Given the description of an element on the screen output the (x, y) to click on. 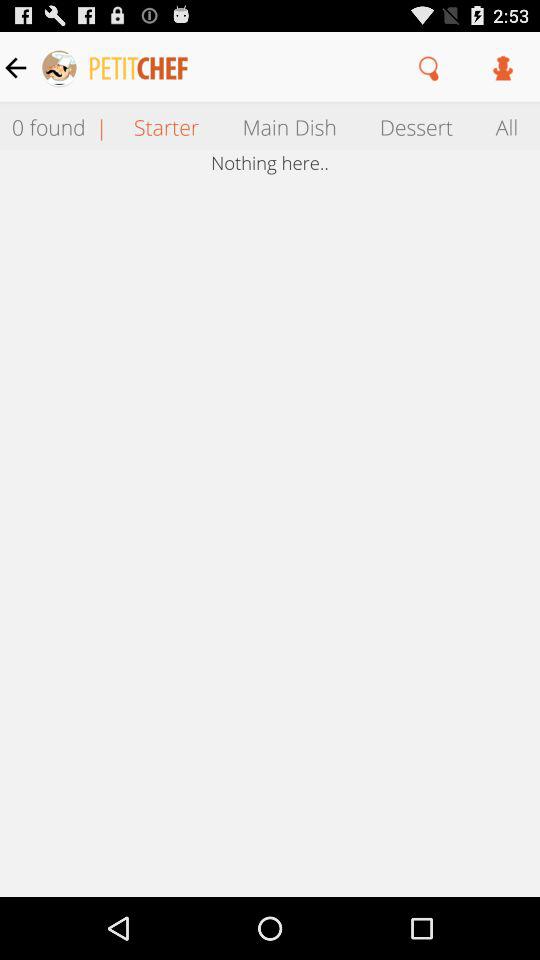
swipe to the main dish item (289, 126)
